Given the description of an element on the screen output the (x, y) to click on. 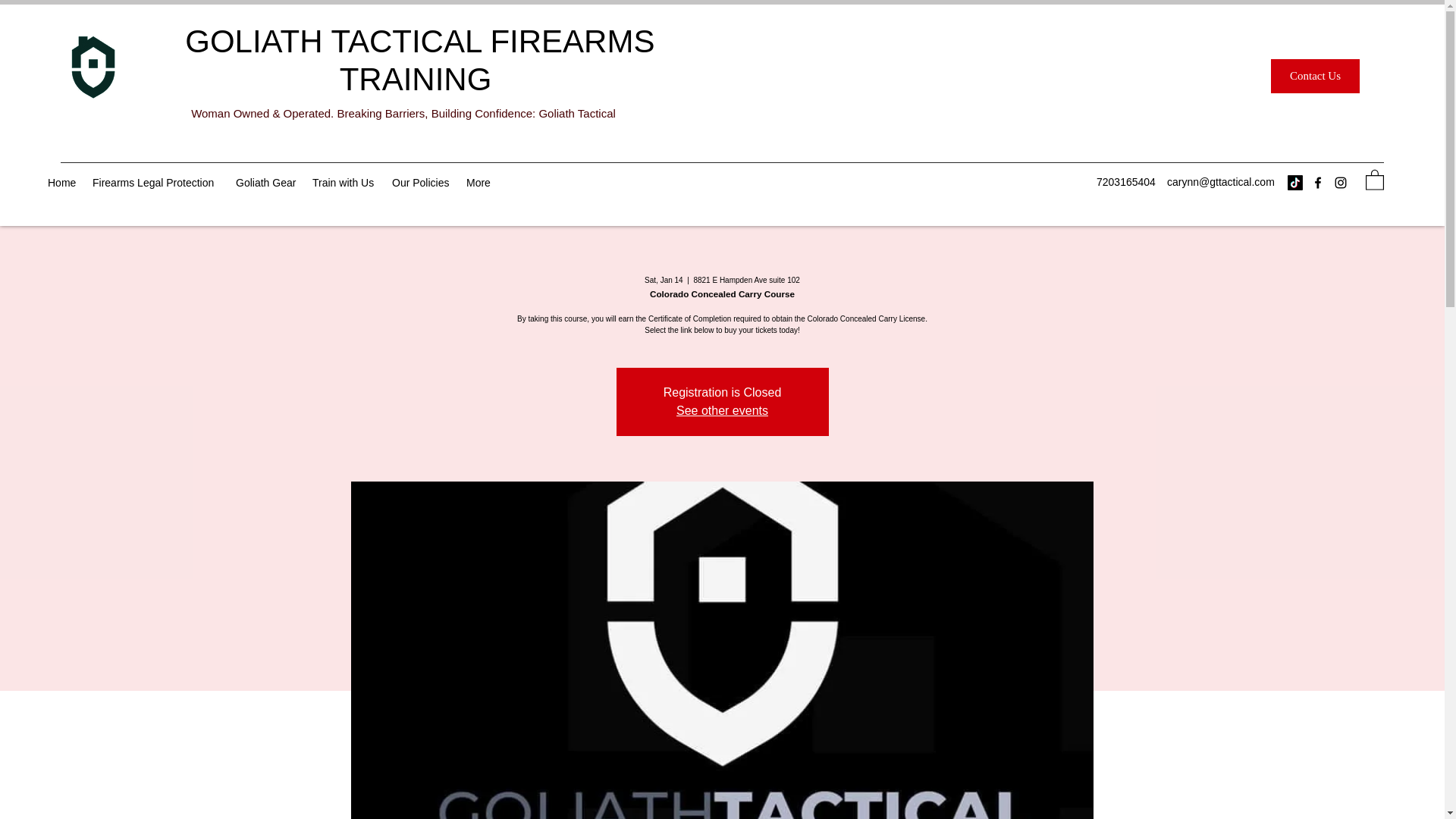
Home (62, 182)
Our Policies (421, 182)
Train with Us (344, 182)
Contact Us (1315, 75)
See other events (722, 410)
Firearms Legal Protection (156, 182)
Goliath Gear (266, 182)
